Given the description of an element on the screen output the (x, y) to click on. 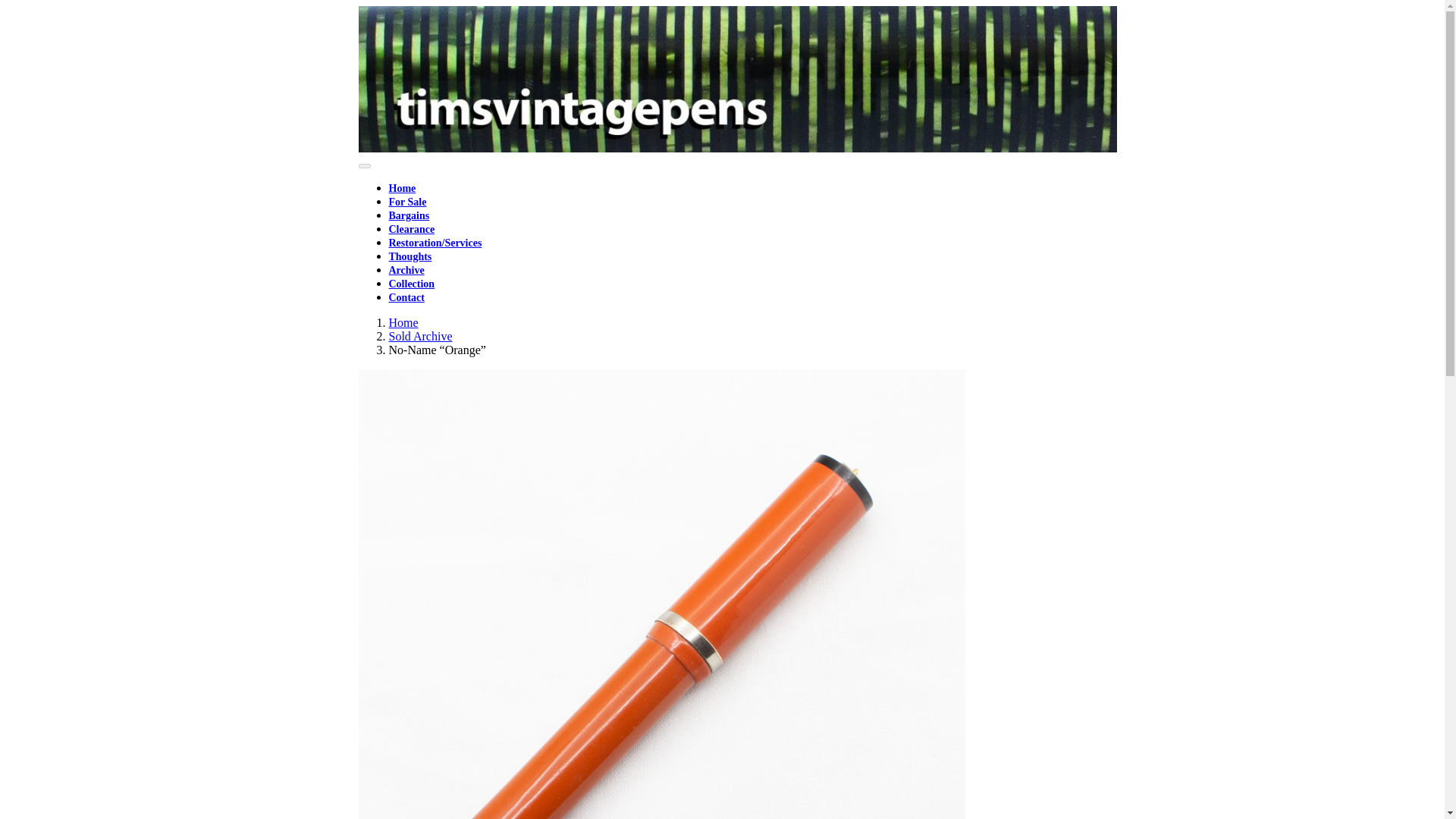
Thoughts (409, 256)
Sold Archive (419, 336)
For Sale (407, 202)
Collection (410, 283)
Home (402, 322)
Clearance (410, 229)
Home (401, 188)
Archive (405, 270)
Contact (405, 297)
Bargains (408, 215)
